Given the description of an element on the screen output the (x, y) to click on. 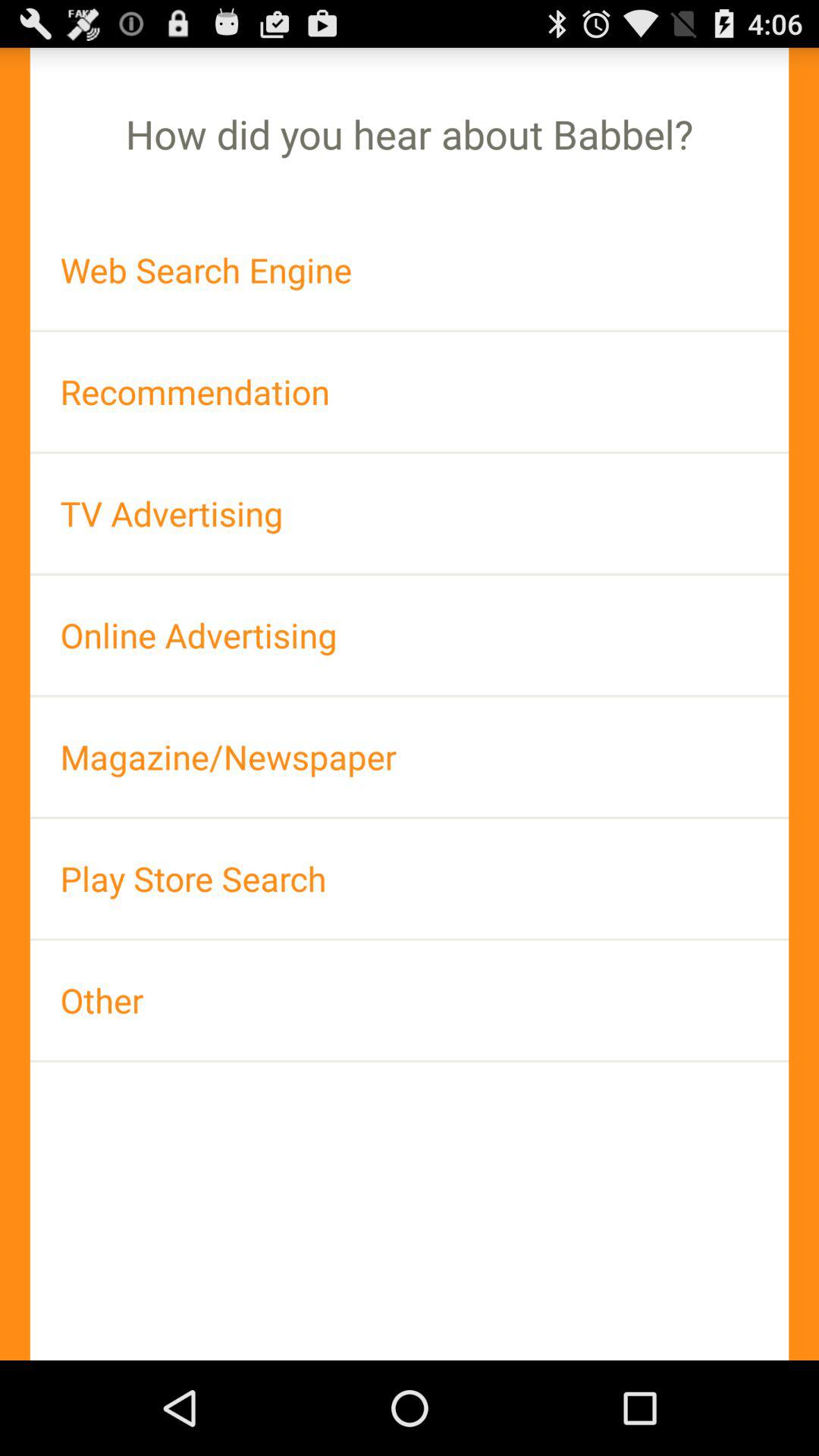
swipe until the tv advertising icon (409, 513)
